Given the description of an element on the screen output the (x, y) to click on. 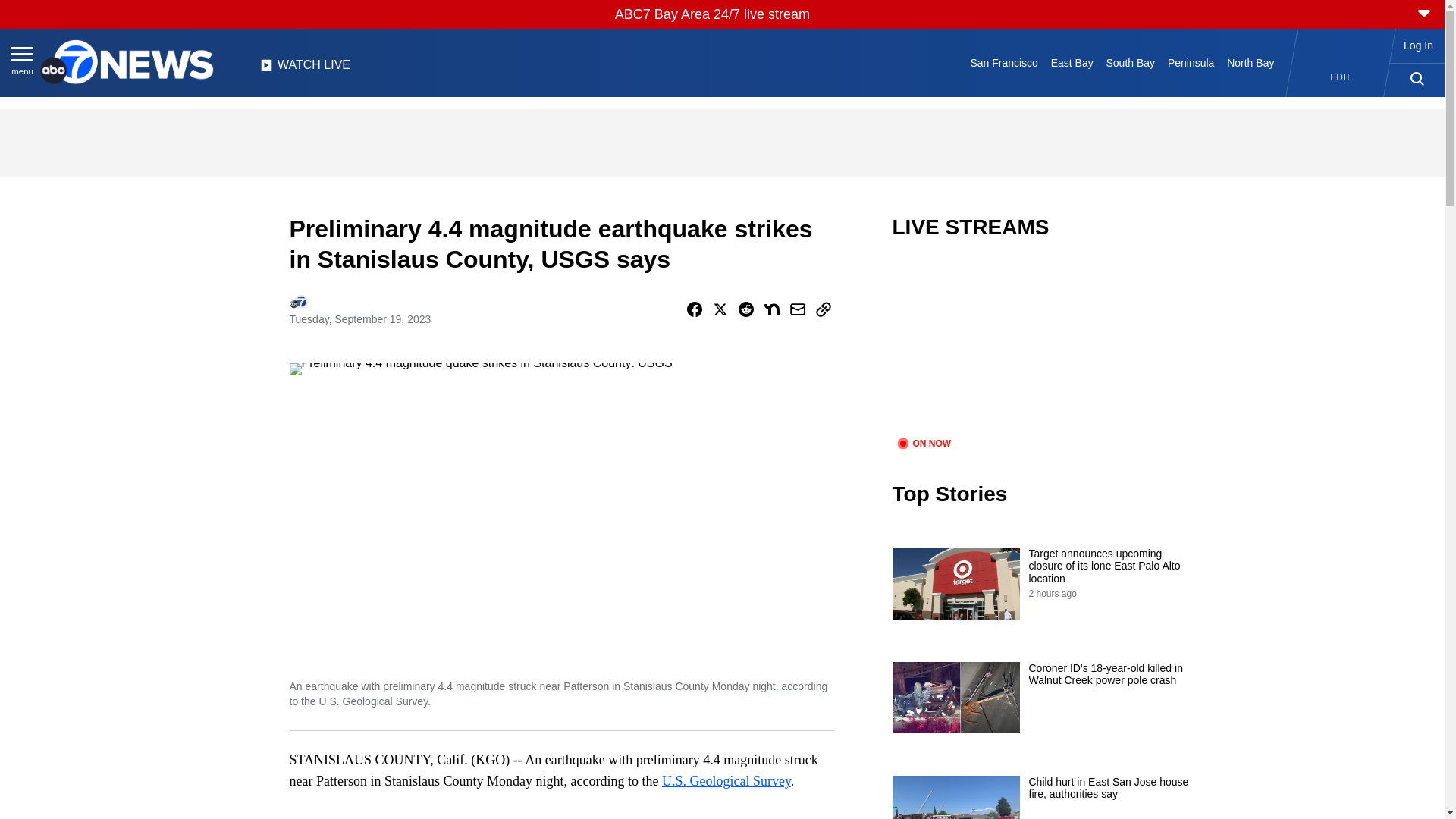
South Bay (1129, 62)
video.title (1043, 347)
EDIT (1340, 77)
East Bay (1071, 62)
North Bay (1251, 62)
WATCH LIVE (305, 69)
Peninsula (1191, 62)
San Francisco (1003, 62)
